Given the description of an element on the screen output the (x, y) to click on. 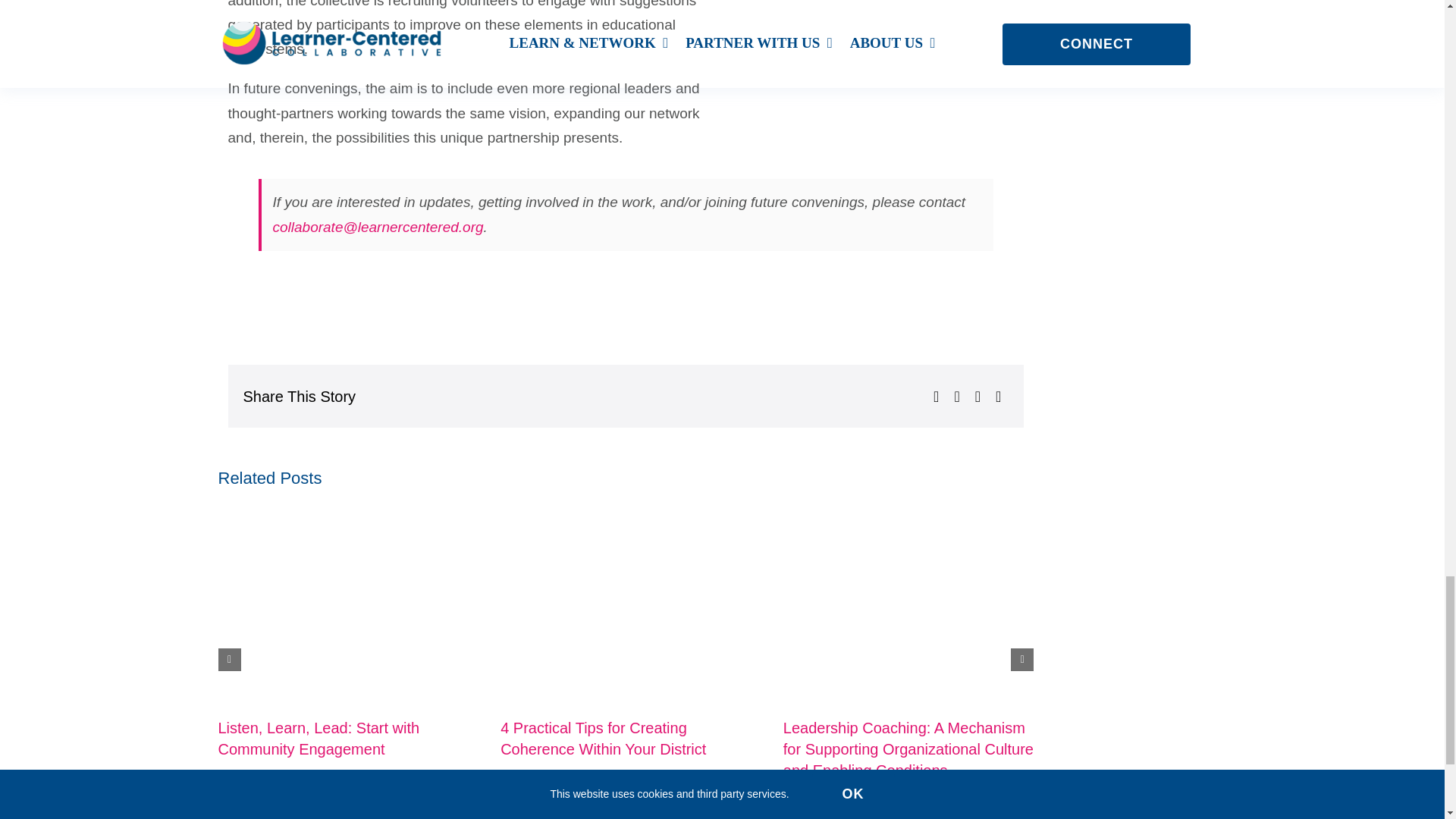
Listen, Learn, Lead: Start with Community Engagement (317, 738)
4 Practical Tips for Creating Coherence Within Your District (603, 738)
